Given the description of an element on the screen output the (x, y) to click on. 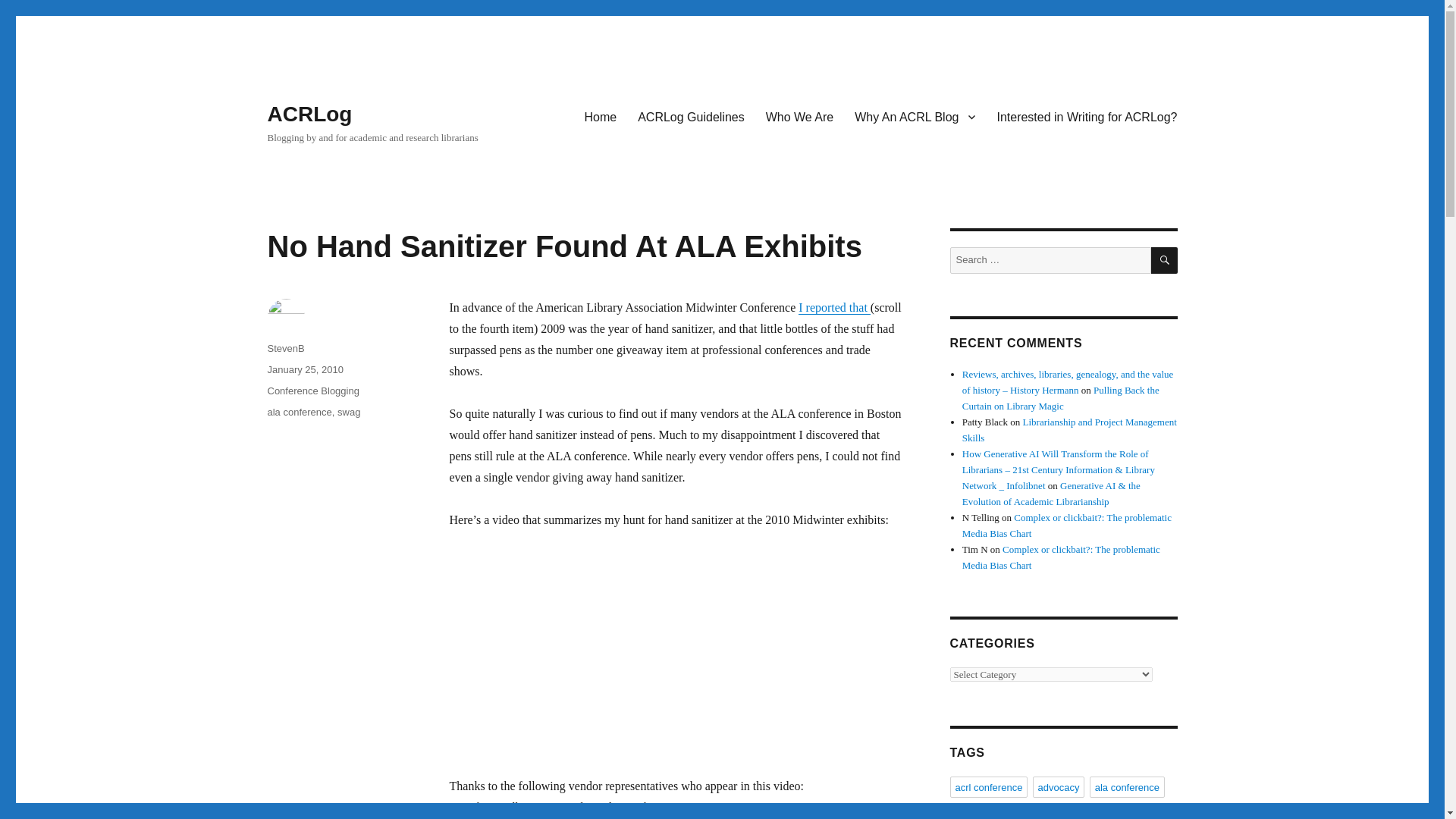
Why An ACRL Blog (914, 116)
Librarianship and Project Management Skills (1069, 429)
StevenB (285, 348)
Home (600, 116)
Complex or clickbait?: The problematic Media Bias Chart (1067, 524)
Complex or clickbait?: The problematic Media Bias Chart (1061, 556)
Pulling Back the Curtain on Library Magic (1060, 397)
Interested in Writing for ACRLog? (1086, 116)
Who We Are (799, 116)
ACRLog (309, 114)
SEARCH (1164, 260)
acrl conference (988, 786)
ACRLog Guidelines (691, 116)
swag (348, 411)
I reported that (833, 307)
